Given the description of an element on the screen output the (x, y) to click on. 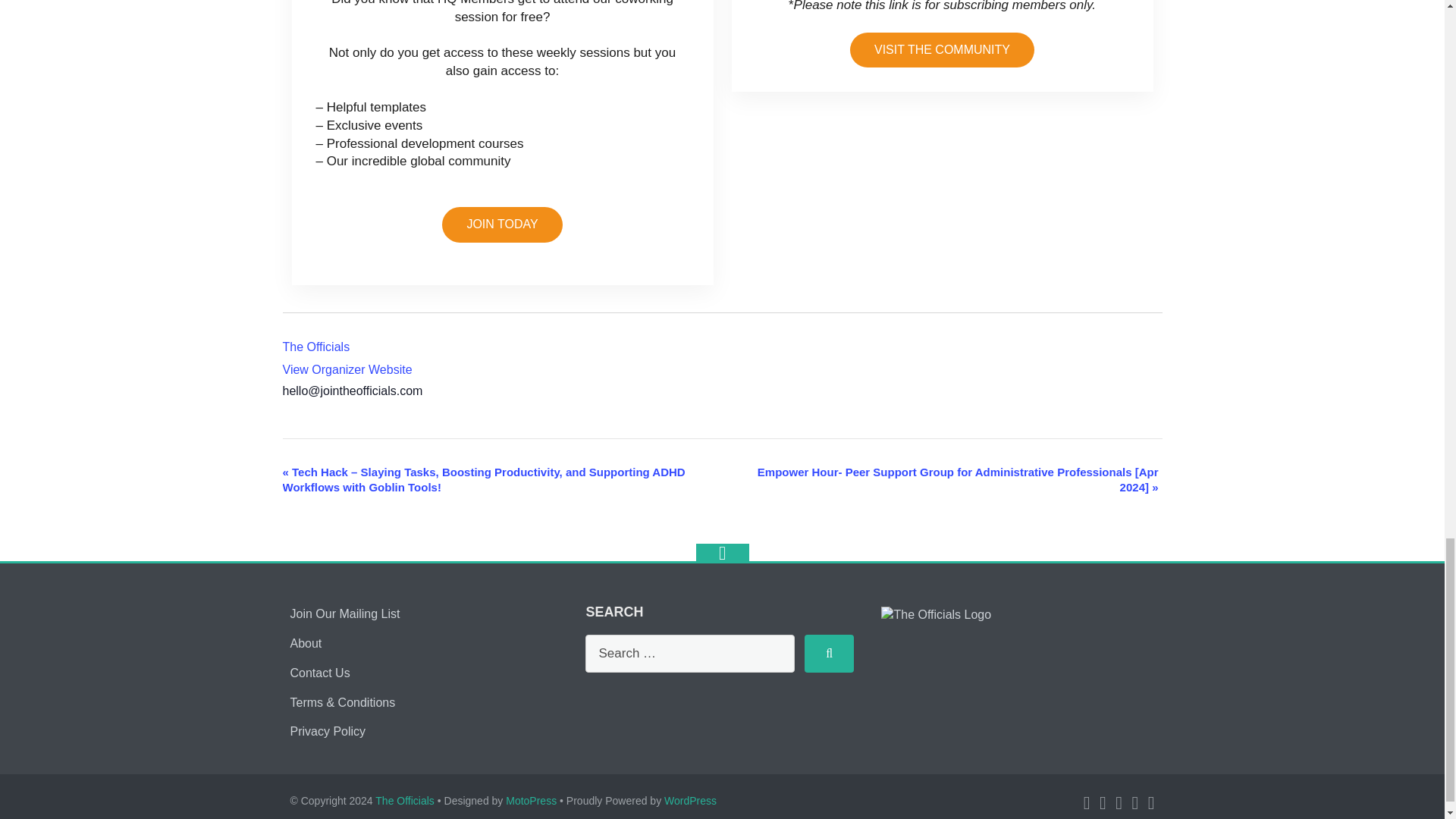
View Organizer Website (347, 369)
About (305, 643)
The Officials (315, 346)
Join Our Mailing List (343, 613)
Contact Us (319, 672)
JOIN TODAY (502, 224)
The Officials (315, 346)
Privacy Policy (327, 730)
Search for: (689, 653)
VISIT THE COMMUNITY (941, 49)
